Given the description of an element on the screen output the (x, y) to click on. 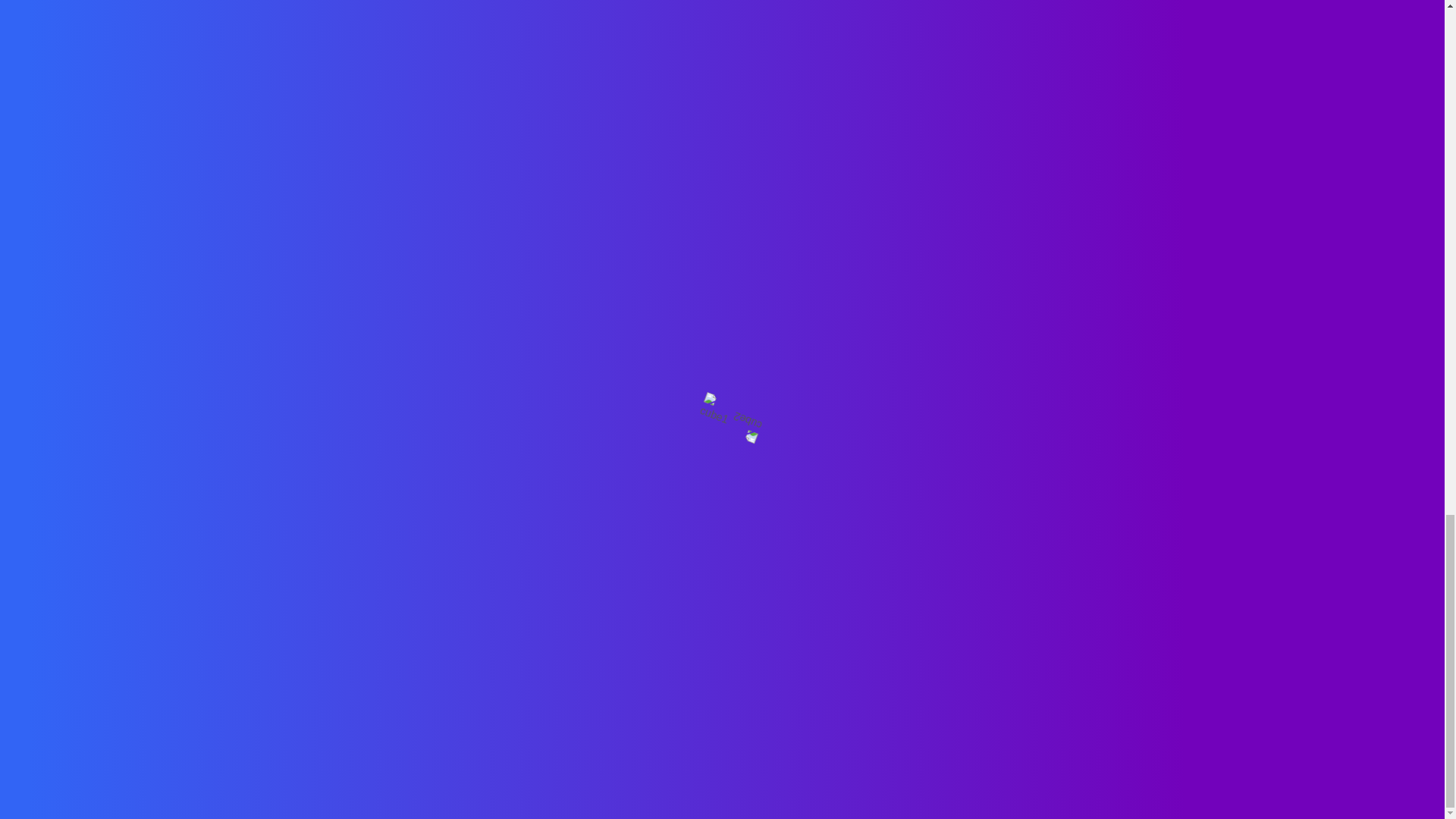
Terms of Service (768, 740)
Privacy Policy (668, 740)
